Given the description of an element on the screen output the (x, y) to click on. 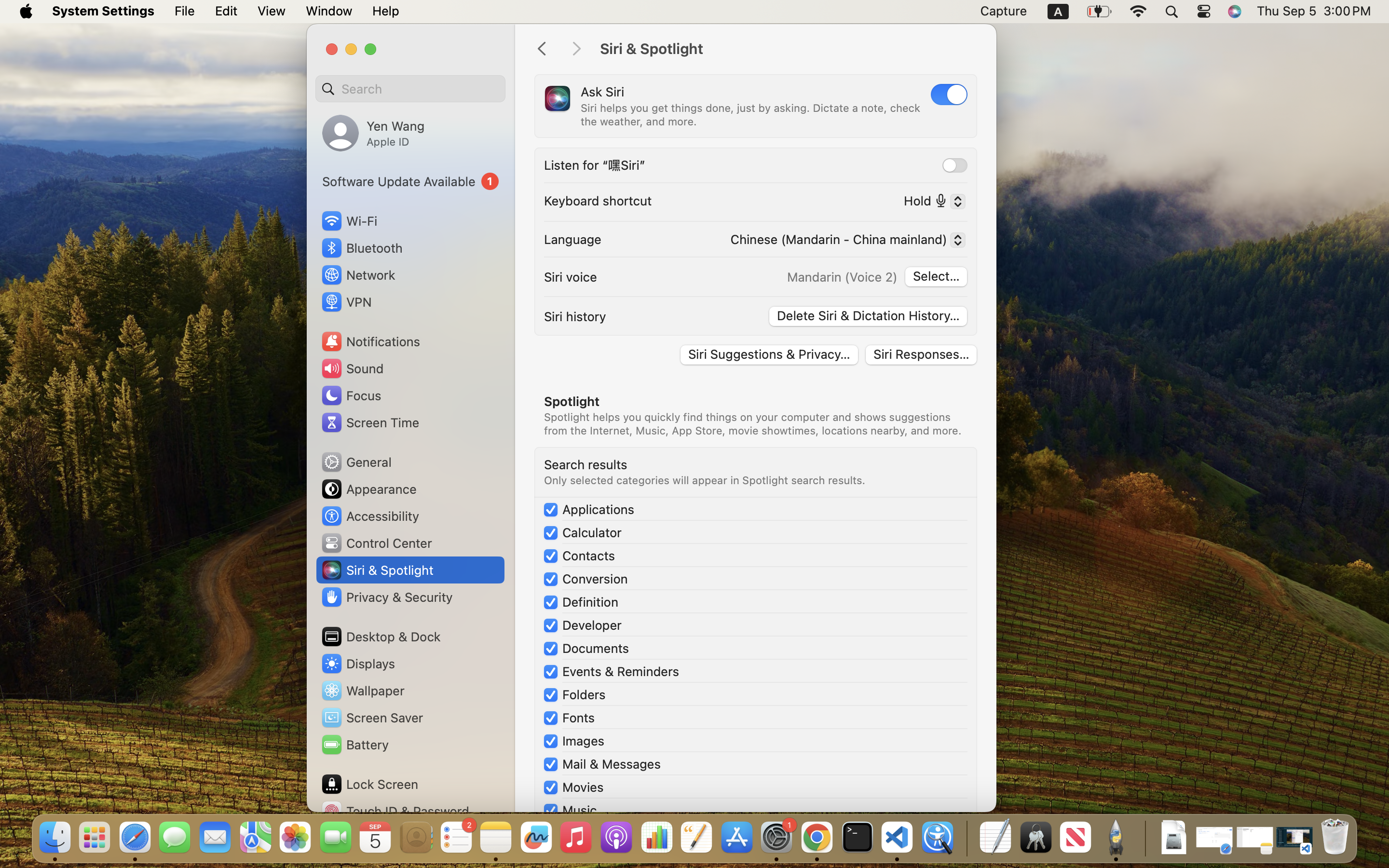
Only selected categories will appear in Spotlight search results. Element type: AXStaticText (704, 480)
Displays Element type: AXStaticText (357, 663)
Touch ID & Password Element type: AXStaticText (394, 810)
Control Center Element type: AXStaticText (376, 542)
Sound Element type: AXStaticText (351, 367)
